Given the description of an element on the screen output the (x, y) to click on. 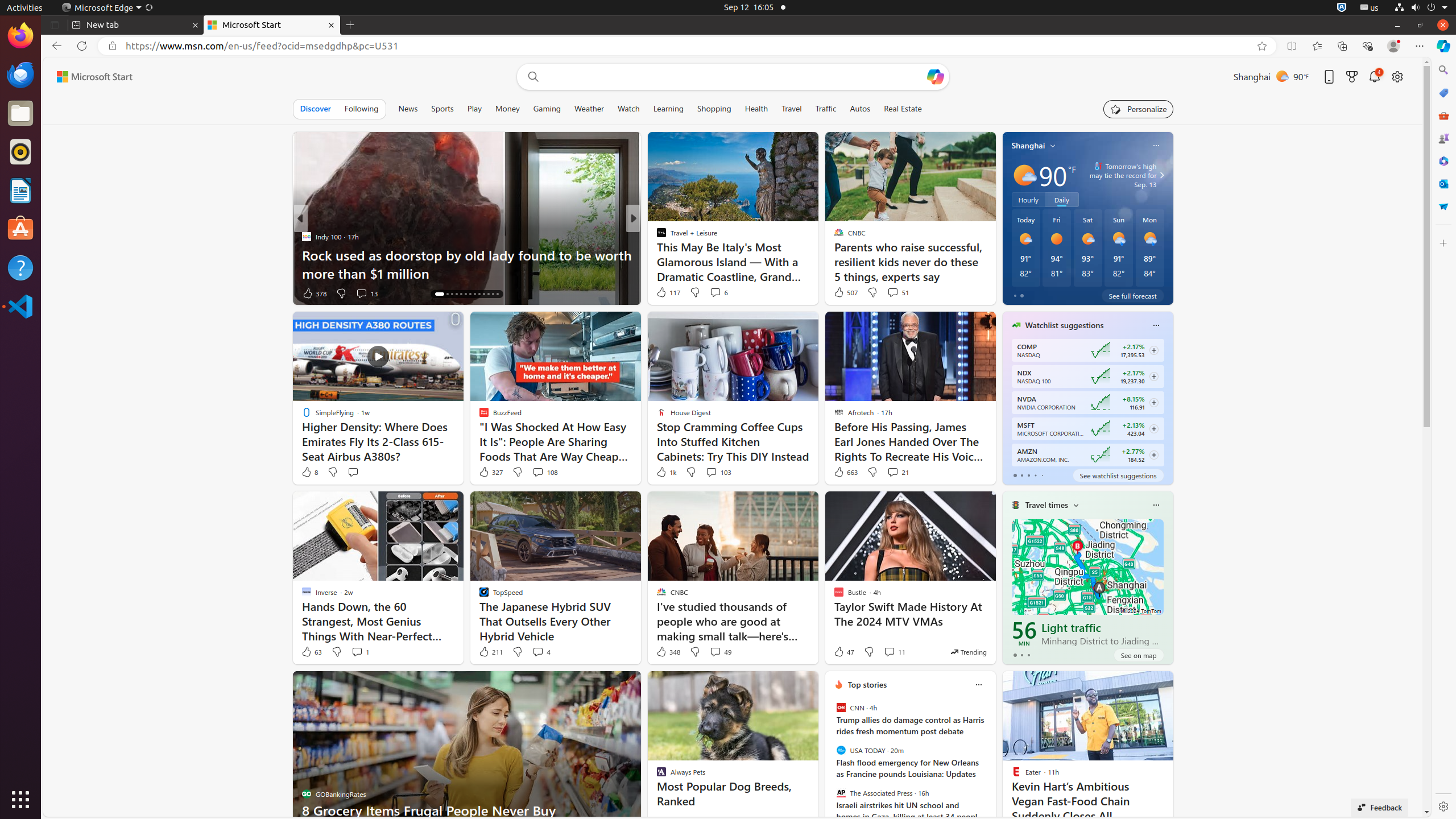
View comments 103 Comment Element type: link (717, 472)
Search Element type: push-button (1443, 69)
Shopping Element type: link (714, 108)
Split screen Element type: push-button (1291, 45)
View comments 13 Comment Element type: push-button (361, 293)
